Given the description of an element on the screen output the (x, y) to click on. 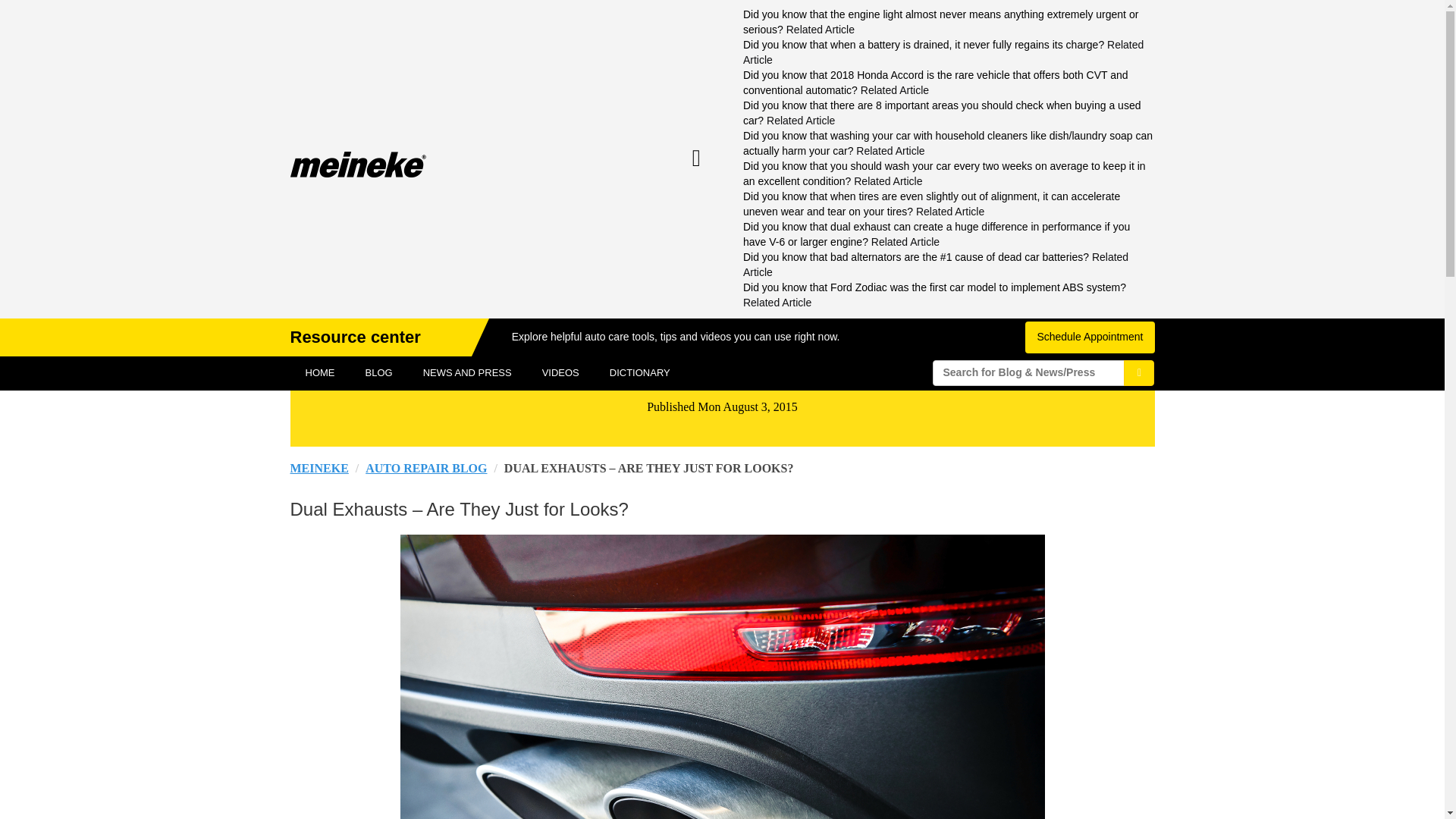
Did you know icon (695, 158)
Related Article (776, 302)
Related Article (942, 52)
Related Article (894, 90)
Related Article (949, 211)
BLOG (378, 373)
Related Article (800, 120)
AUTO REPAIR BLOG (425, 468)
NEWS AND PRESS (467, 373)
DICTIONARY (639, 373)
